Given the description of an element on the screen output the (x, y) to click on. 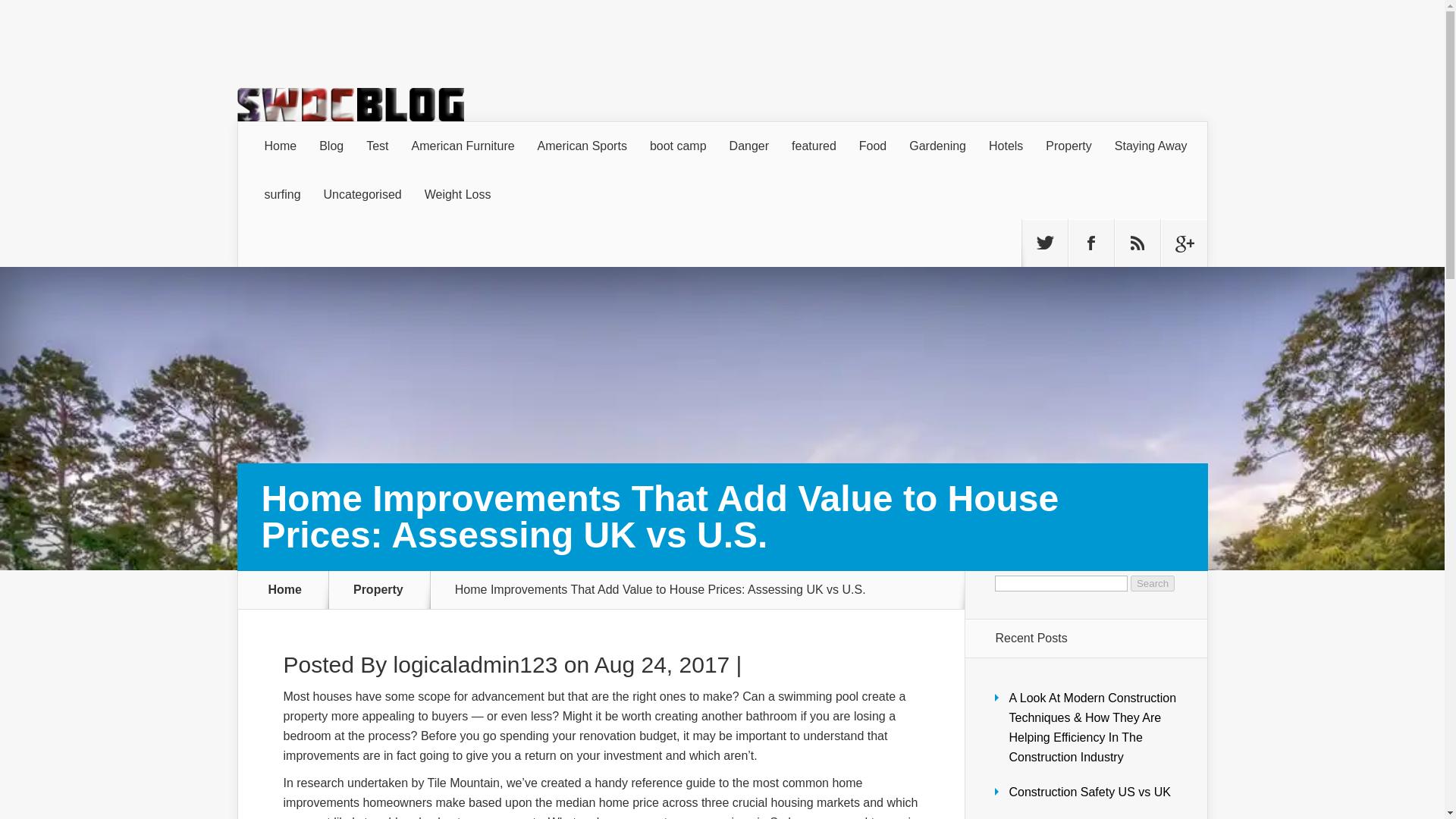
Property (1067, 146)
featured (813, 146)
American Sports (582, 146)
Hotels (1004, 146)
boot camp (678, 146)
Posts by logicaladmin123 (475, 664)
Food (872, 146)
Gardening (937, 146)
Blog (331, 146)
Home (280, 146)
